Given the description of an element on the screen output the (x, y) to click on. 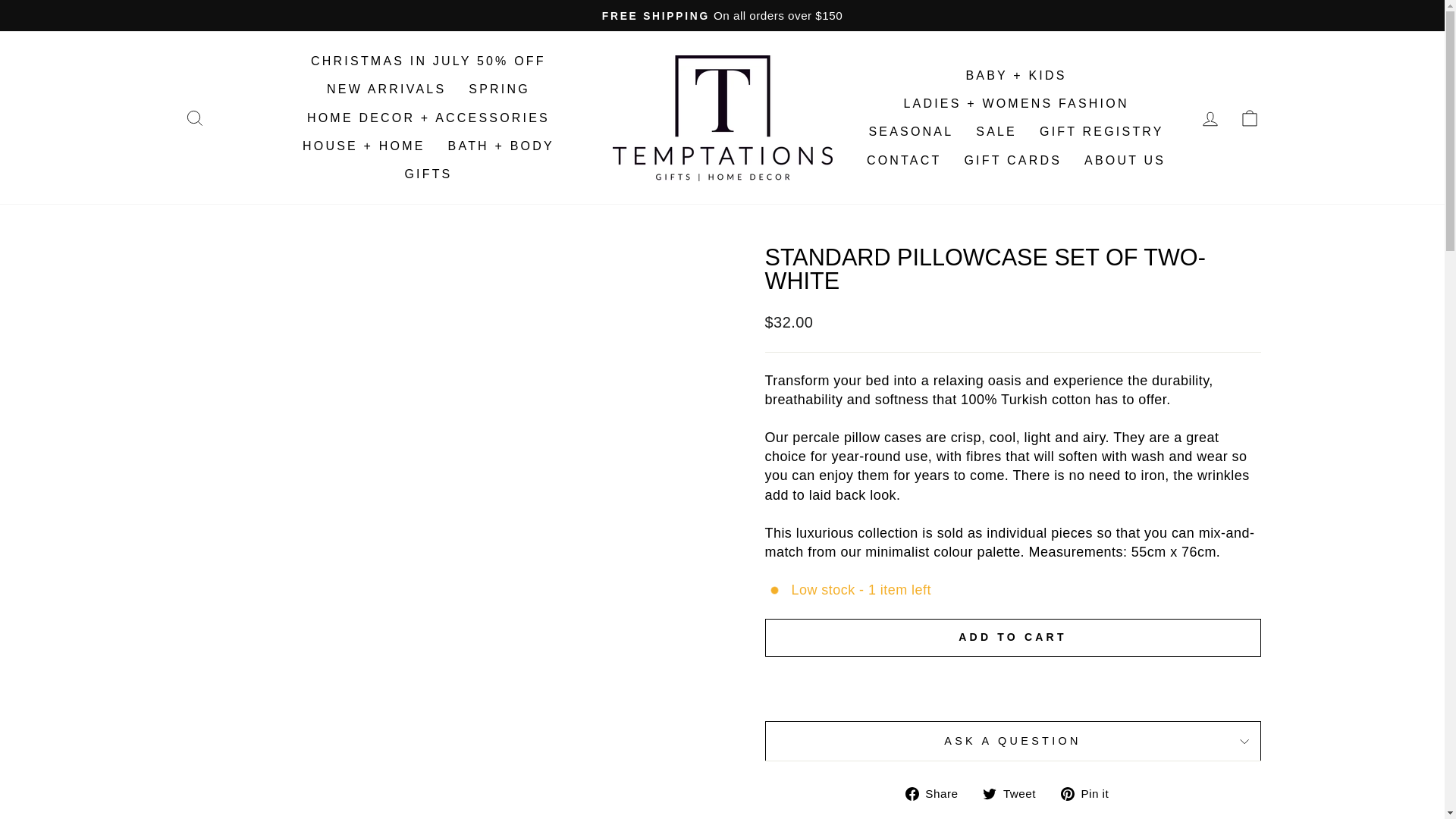
Share on Facebook (937, 793)
Pin on Pinterest (1090, 793)
Tweet on Twitter (1014, 793)
